Given the description of an element on the screen output the (x, y) to click on. 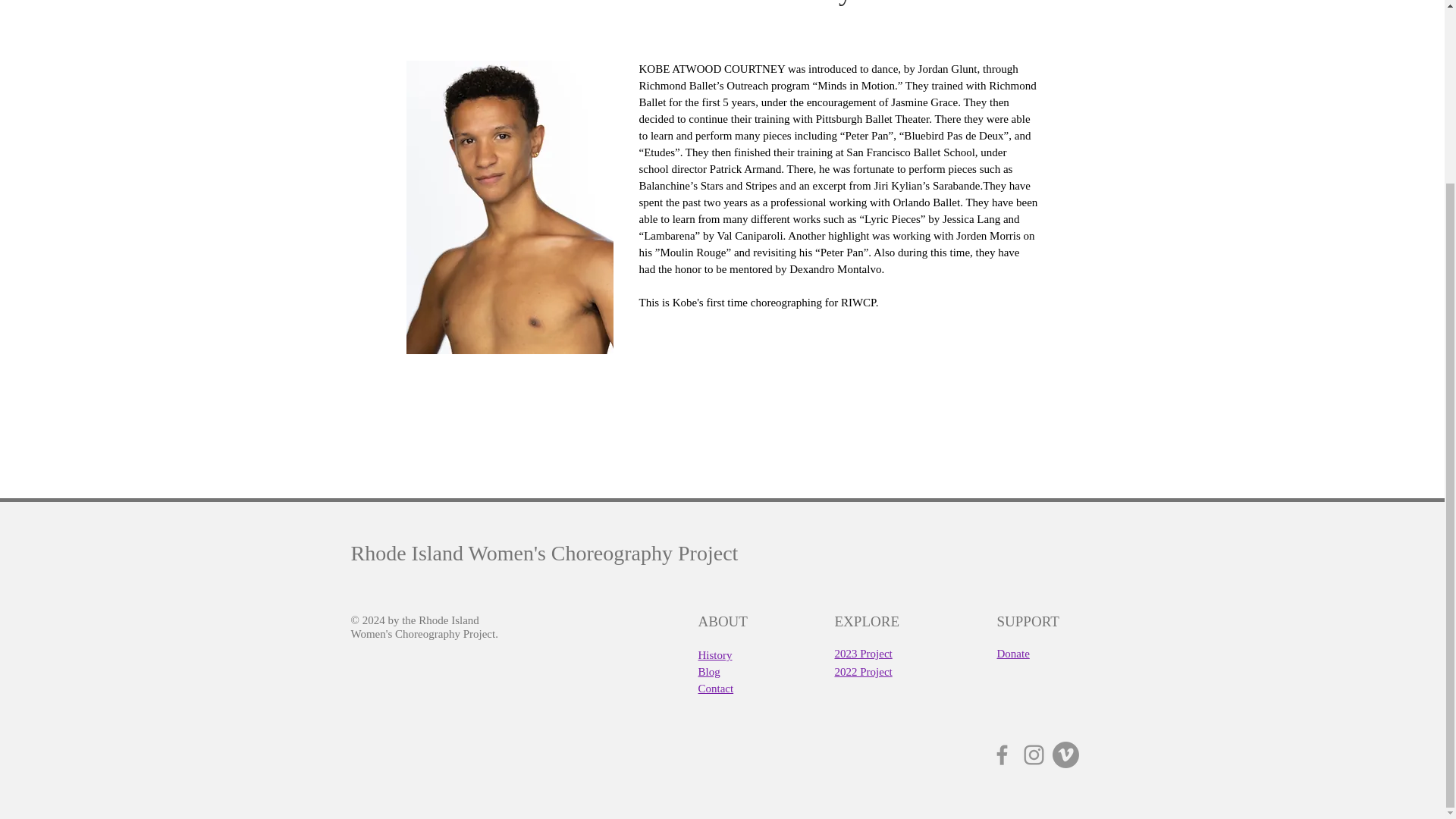
2022 Project (862, 671)
Donate (1012, 653)
2023 Project (862, 653)
Blog (708, 671)
Contact (715, 687)
History (714, 654)
